Given the description of an element on the screen output the (x, y) to click on. 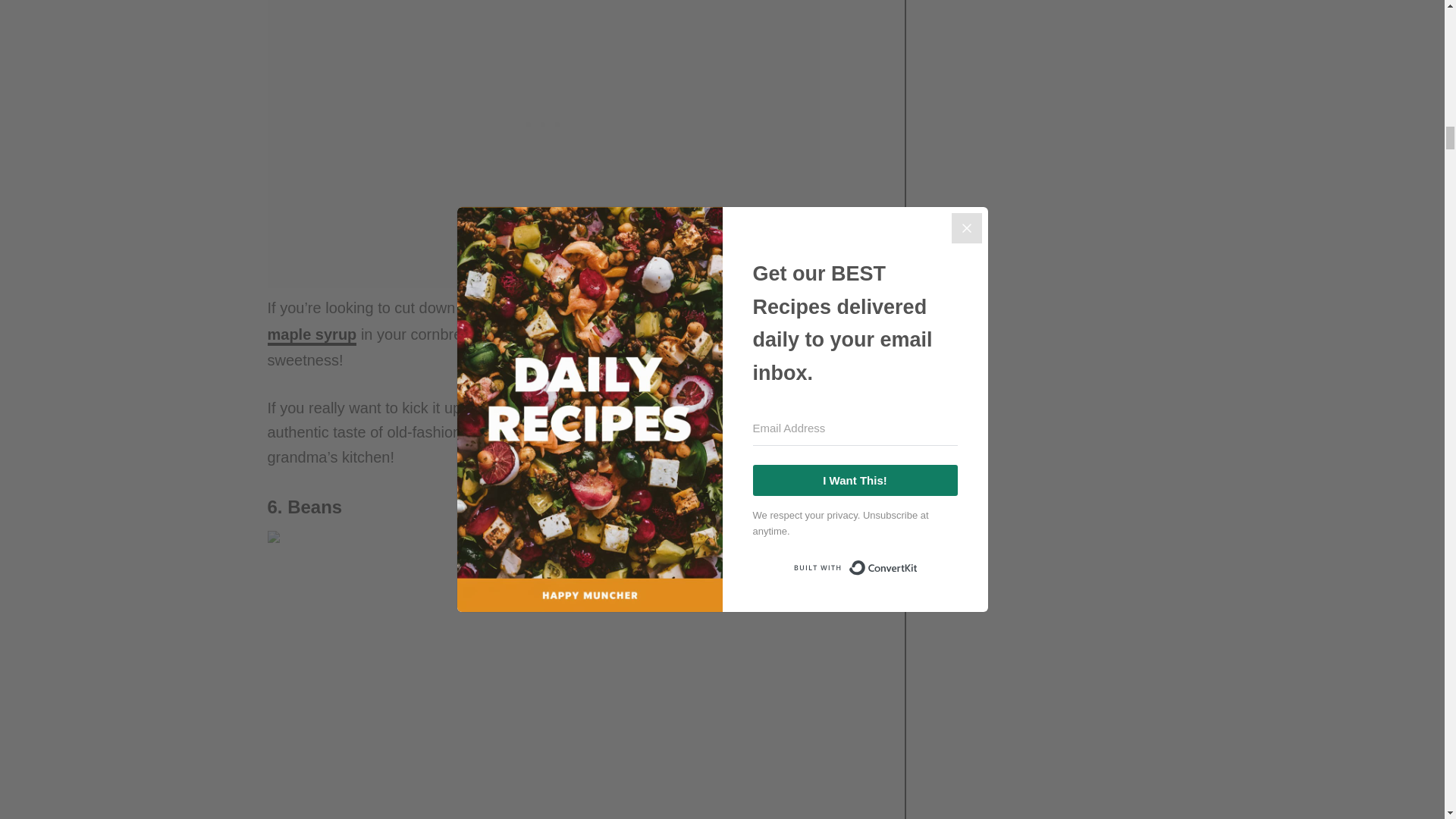
maple syrup (311, 335)
